Given the description of an element on the screen output the (x, y) to click on. 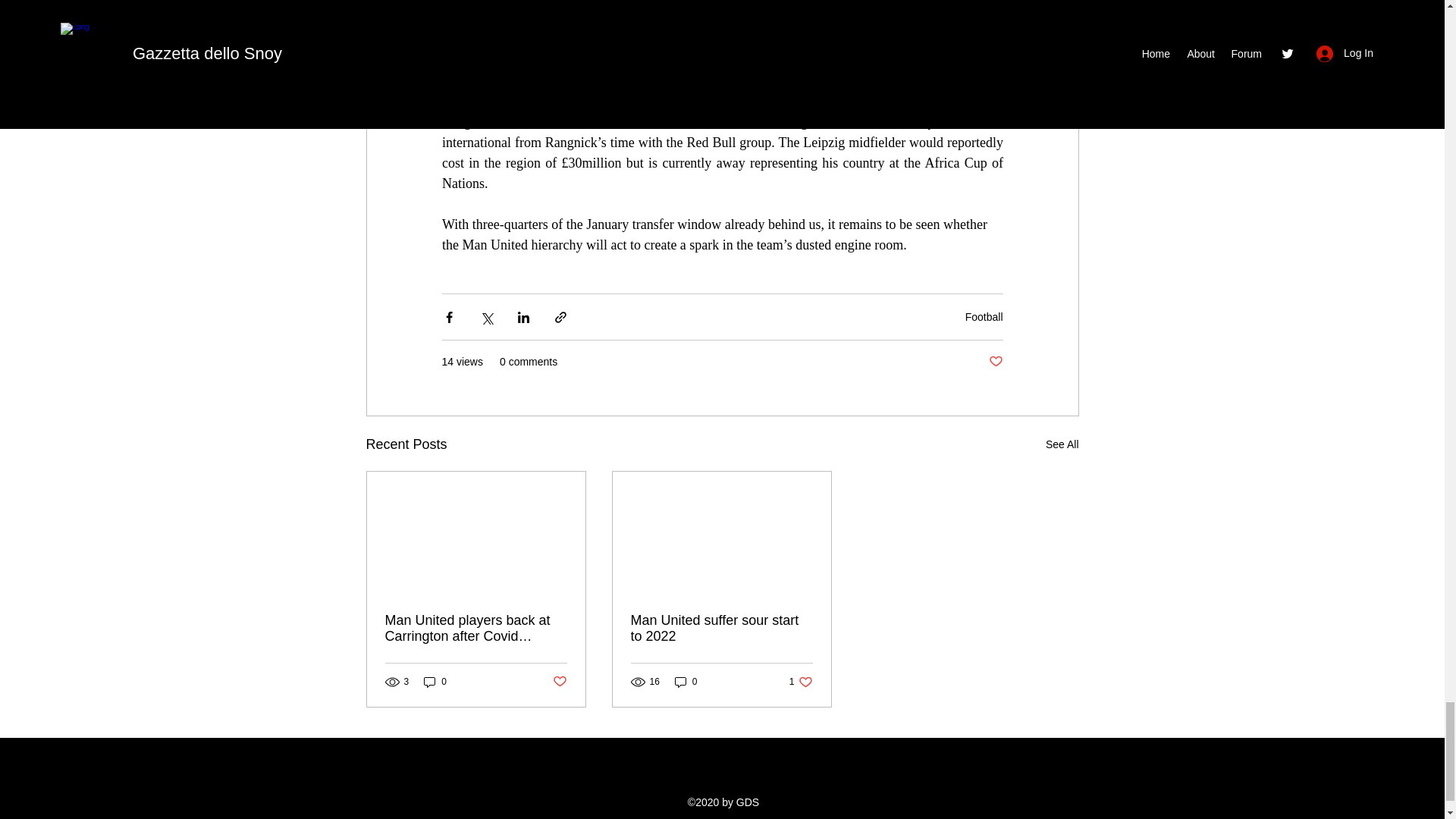
0 (435, 681)
Post not marked as liked (558, 681)
Man United suffer sour start to 2022 (721, 628)
0 (685, 681)
Post not marked as liked (995, 361)
Football (984, 316)
Man United players back at Carrington after Covid outbreak (476, 628)
See All (1061, 444)
